Given the description of an element on the screen output the (x, y) to click on. 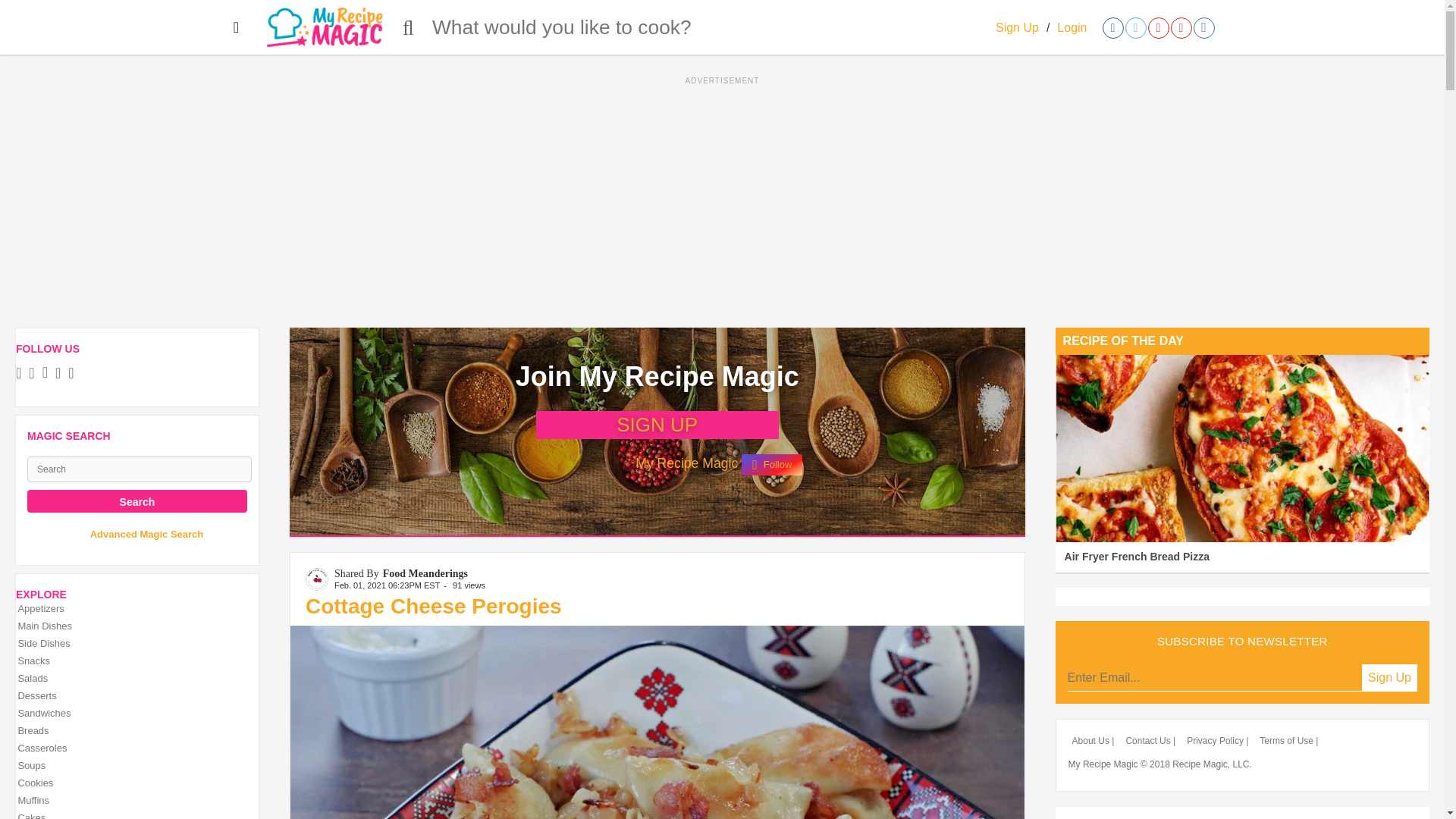
Follow My Recipe Magic  on Twitter (600, 468)
Instagram (74, 374)
My recipe Magic (324, 27)
Login (1071, 27)
YouTube (61, 374)
Twitter (35, 374)
Sign Up (1017, 27)
Facebook (22, 374)
